Given the description of an element on the screen output the (x, y) to click on. 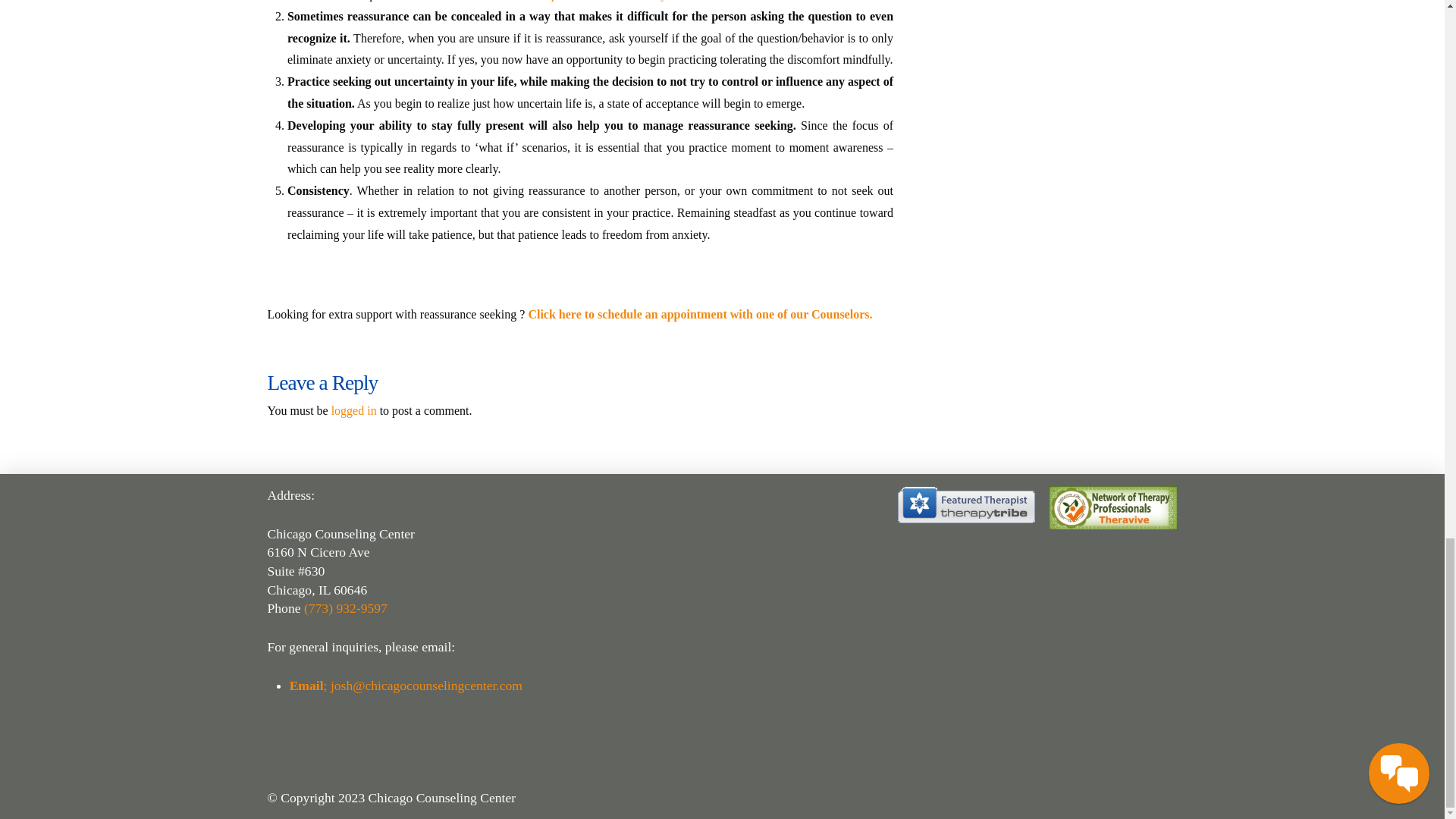
logged in (354, 410)
